Given the description of an element on the screen output the (x, y) to click on. 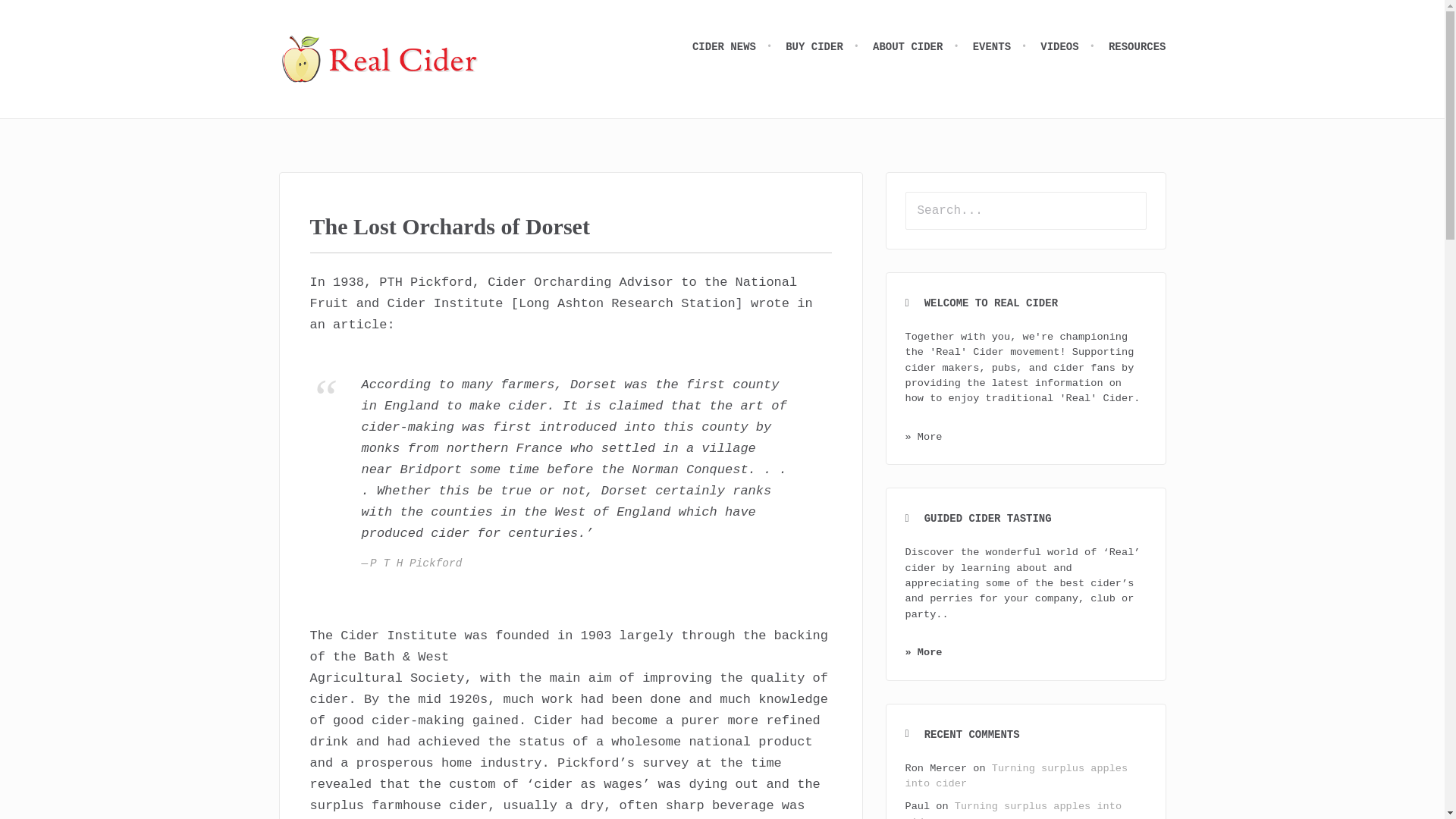
EVENTS (1002, 46)
Search... (1026, 210)
ABOUT CIDER (918, 46)
Real Cider (381, 58)
VIDEOS (1070, 46)
RESOURCES (1137, 46)
BUY CIDER (825, 46)
CIDER NEWS (735, 46)
